Given the description of an element on the screen output the (x, y) to click on. 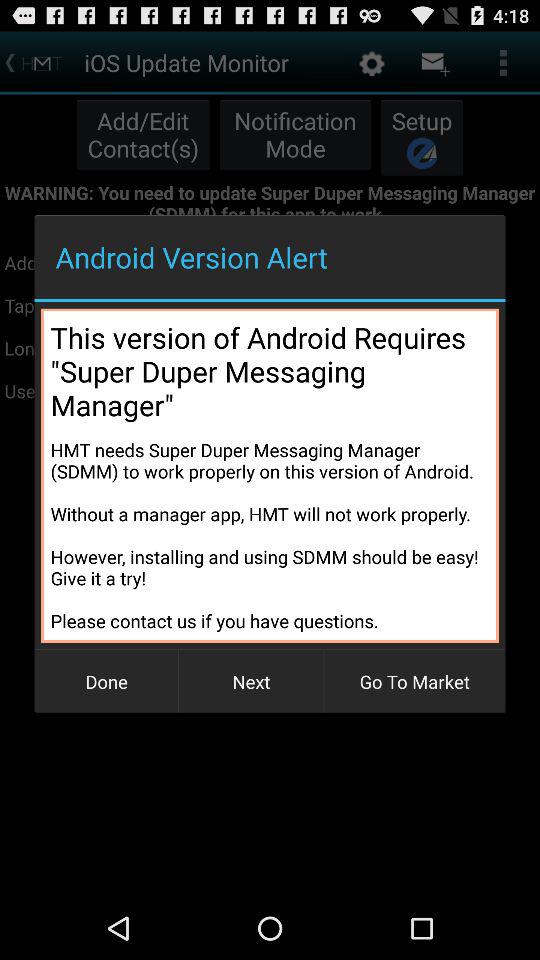
turn on the go to market item (414, 681)
